Given the description of an element on the screen output the (x, y) to click on. 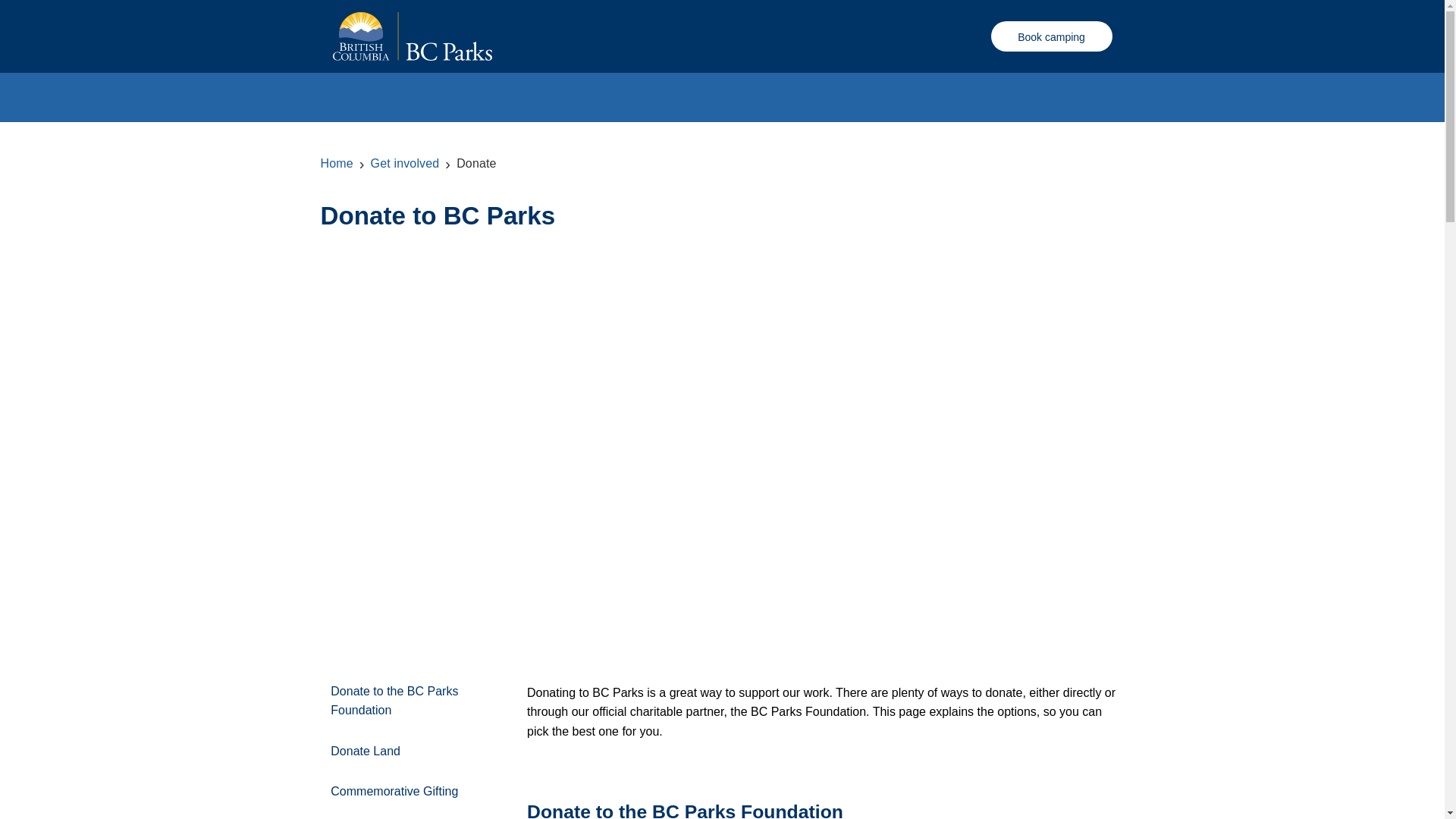
Donate Land Element type: text (405, 750)
Get involved Element type: text (404, 163)
Home Element type: text (336, 163)
Book camping Element type: text (1050, 36)
Donate to the BC Parks Foundation Element type: text (405, 700)
Commemorative Gifting Element type: text (405, 791)
